Given the description of an element on the screen output the (x, y) to click on. 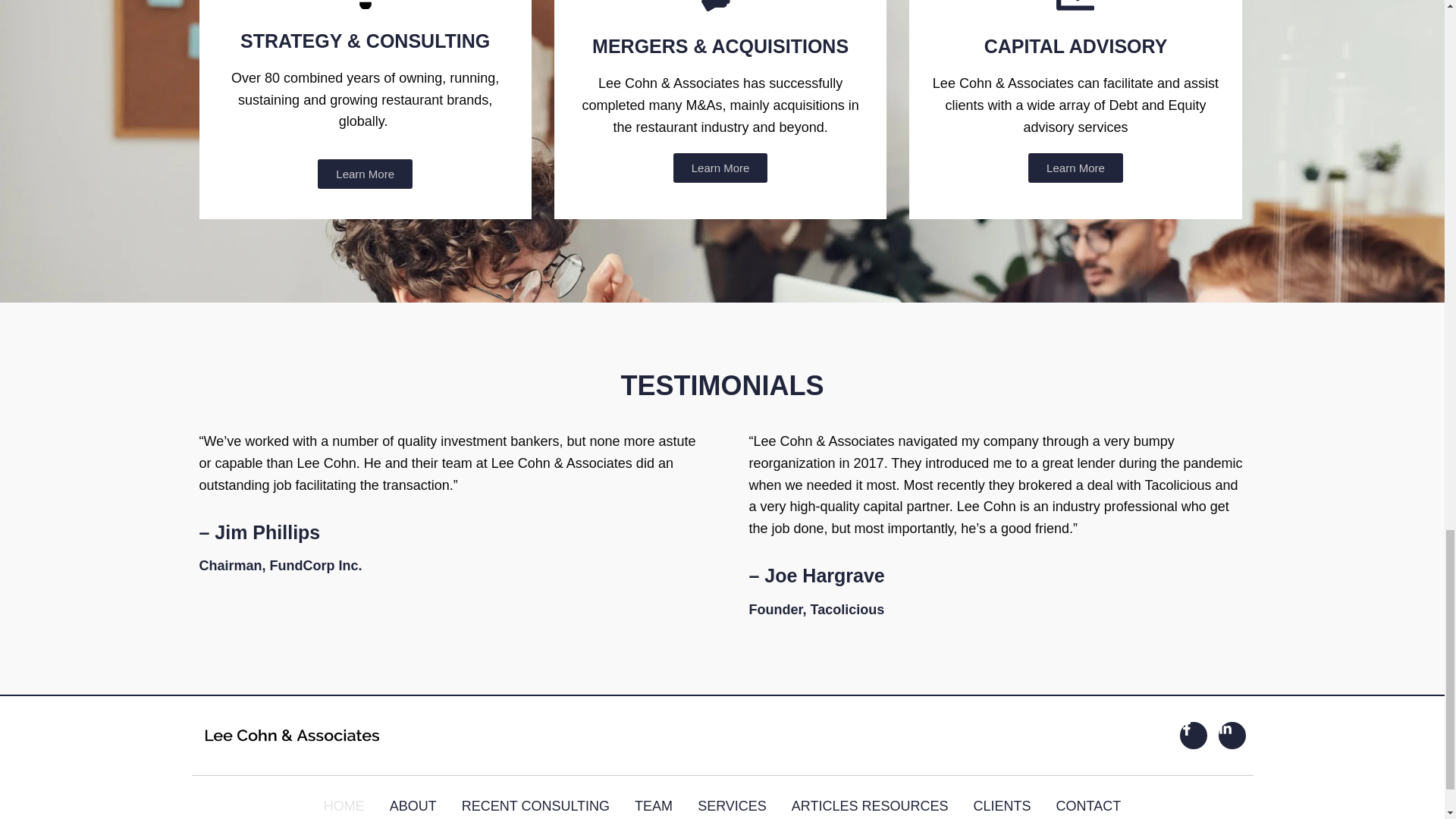
RECENT CONSULTING (535, 805)
SERVICES (732, 805)
TEAM (653, 805)
Learn More (720, 167)
HOME (344, 805)
CLIENTS (1002, 805)
ARTICLES RESOURCES (870, 805)
Learn More (1074, 167)
CONTACT (1089, 805)
ABOUT (413, 805)
Learn More (364, 173)
